Given the description of an element on the screen output the (x, y) to click on. 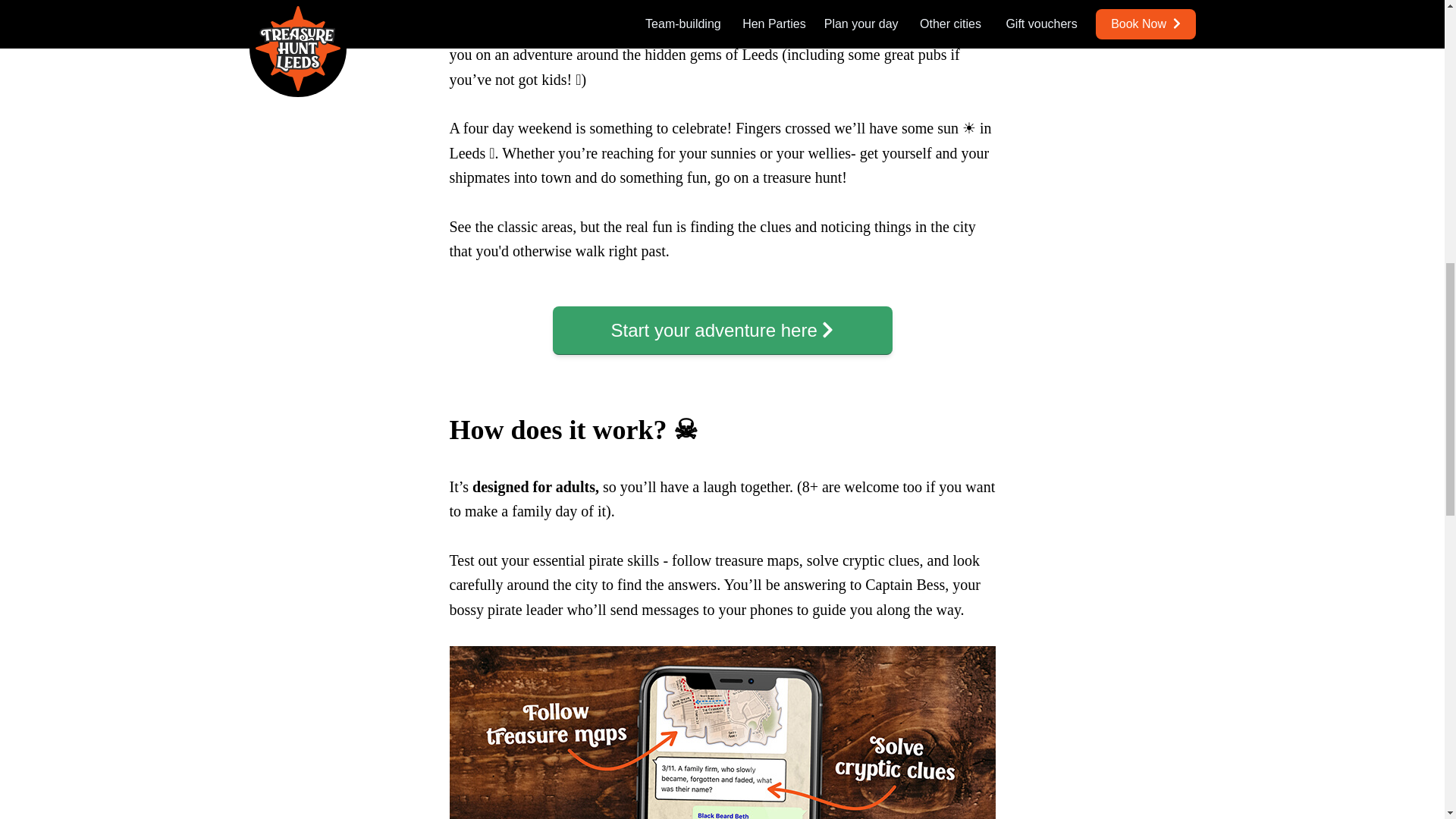
Start your adventure here (721, 330)
